Given the description of an element on the screen output the (x, y) to click on. 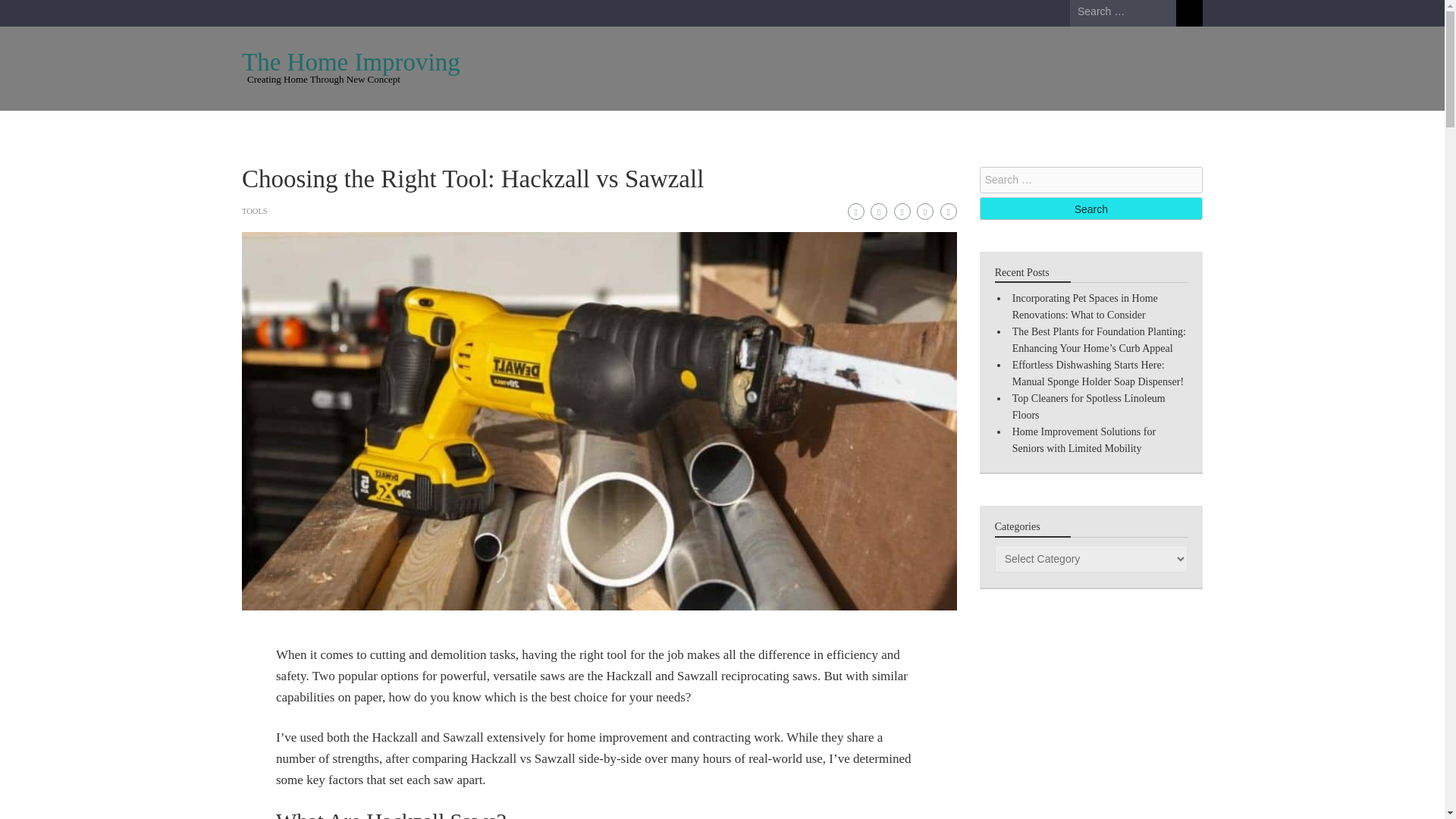
Smart Home (938, 129)
Search (1090, 208)
Search for: (1090, 180)
Real Estate (1026, 129)
Furniture (458, 129)
The Home Improving (350, 62)
Search (1189, 13)
Search (1090, 208)
DIY (595, 129)
Exteriors (782, 129)
